Given the description of an element on the screen output the (x, y) to click on. 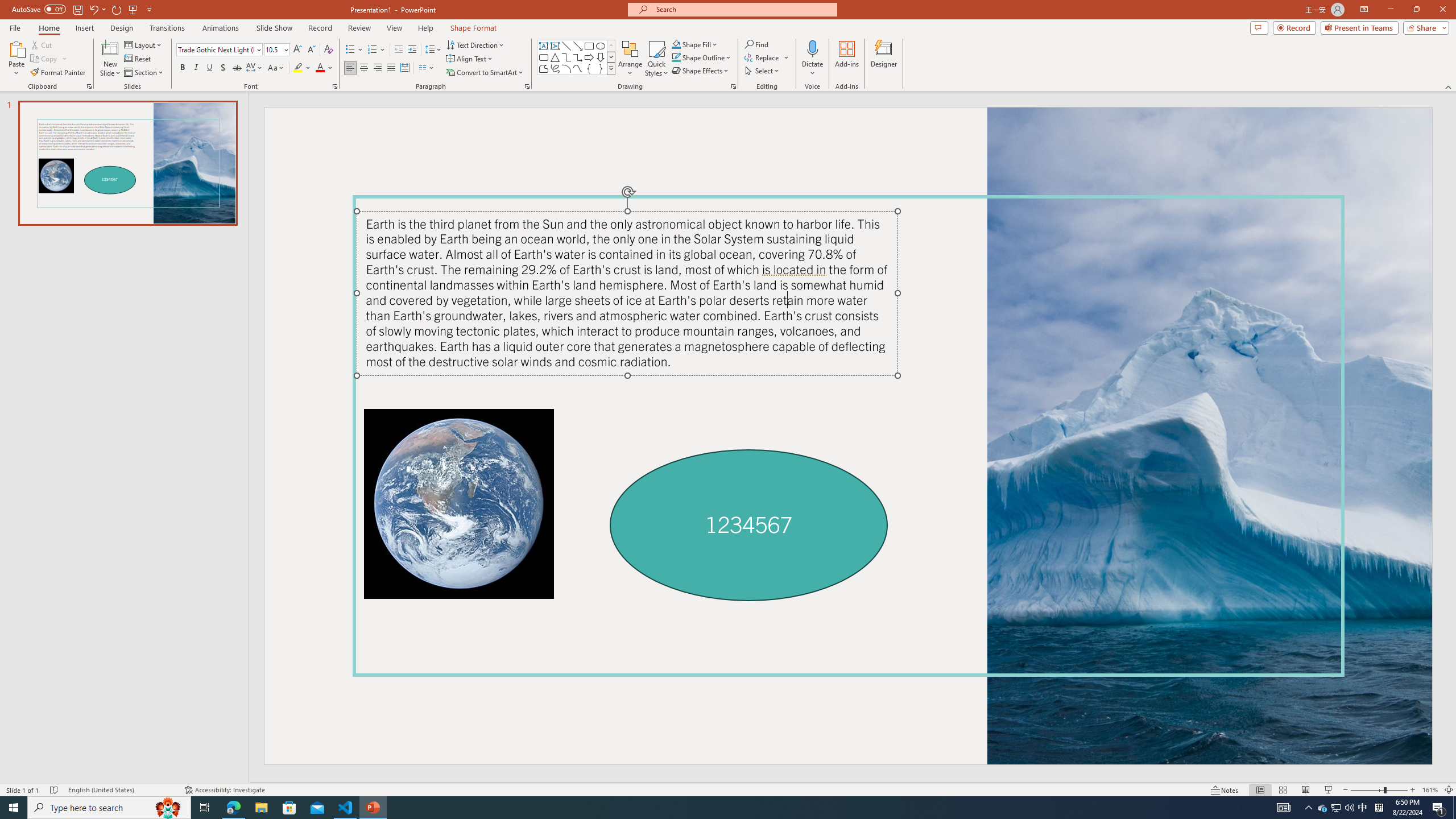
Shape Fill Aqua, Accent 2 (675, 44)
